Given the description of an element on the screen output the (x, y) to click on. 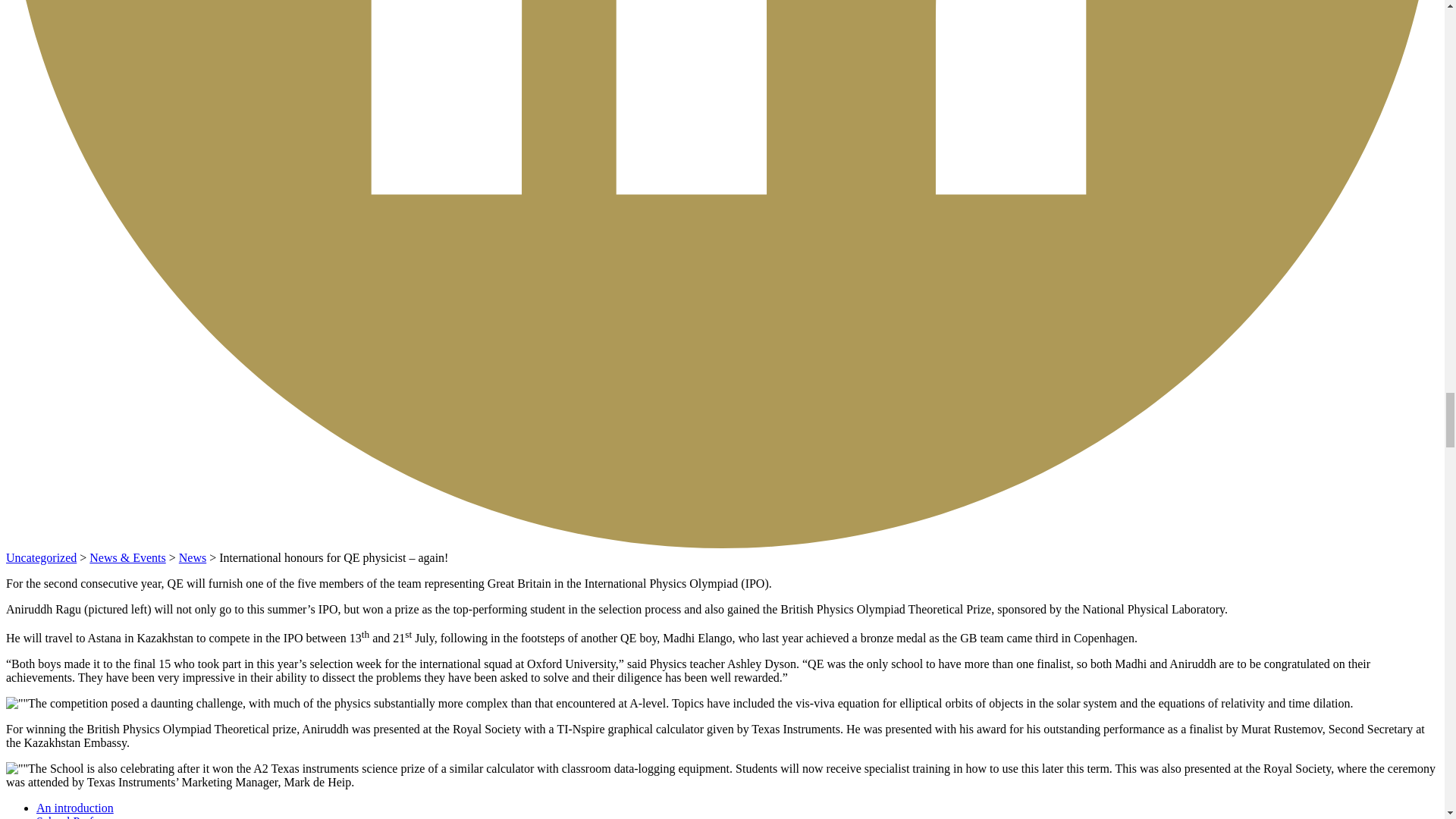
Go to News (192, 557)
Go to the Uncategorized category archives. (41, 557)
Go to News (126, 557)
